Given the description of an element on the screen output the (x, y) to click on. 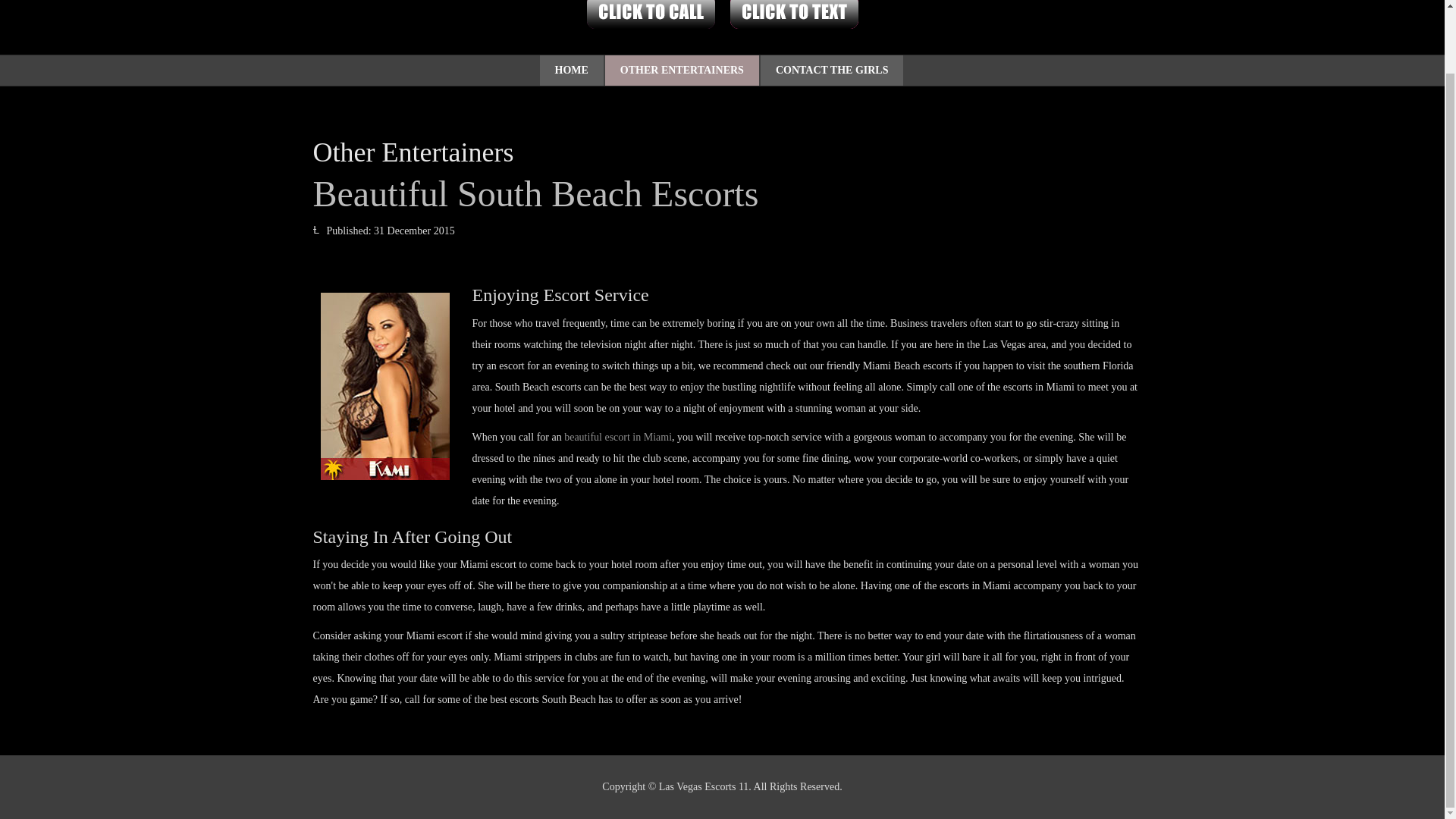
beautiful escort in Miami (617, 437)
CONTACT THE GIRLS (832, 70)
OTHER ENTERTAINERS (681, 70)
Stunning South Beach Escorts (384, 385)
HOME (572, 70)
